Given the description of an element on the screen output the (x, y) to click on. 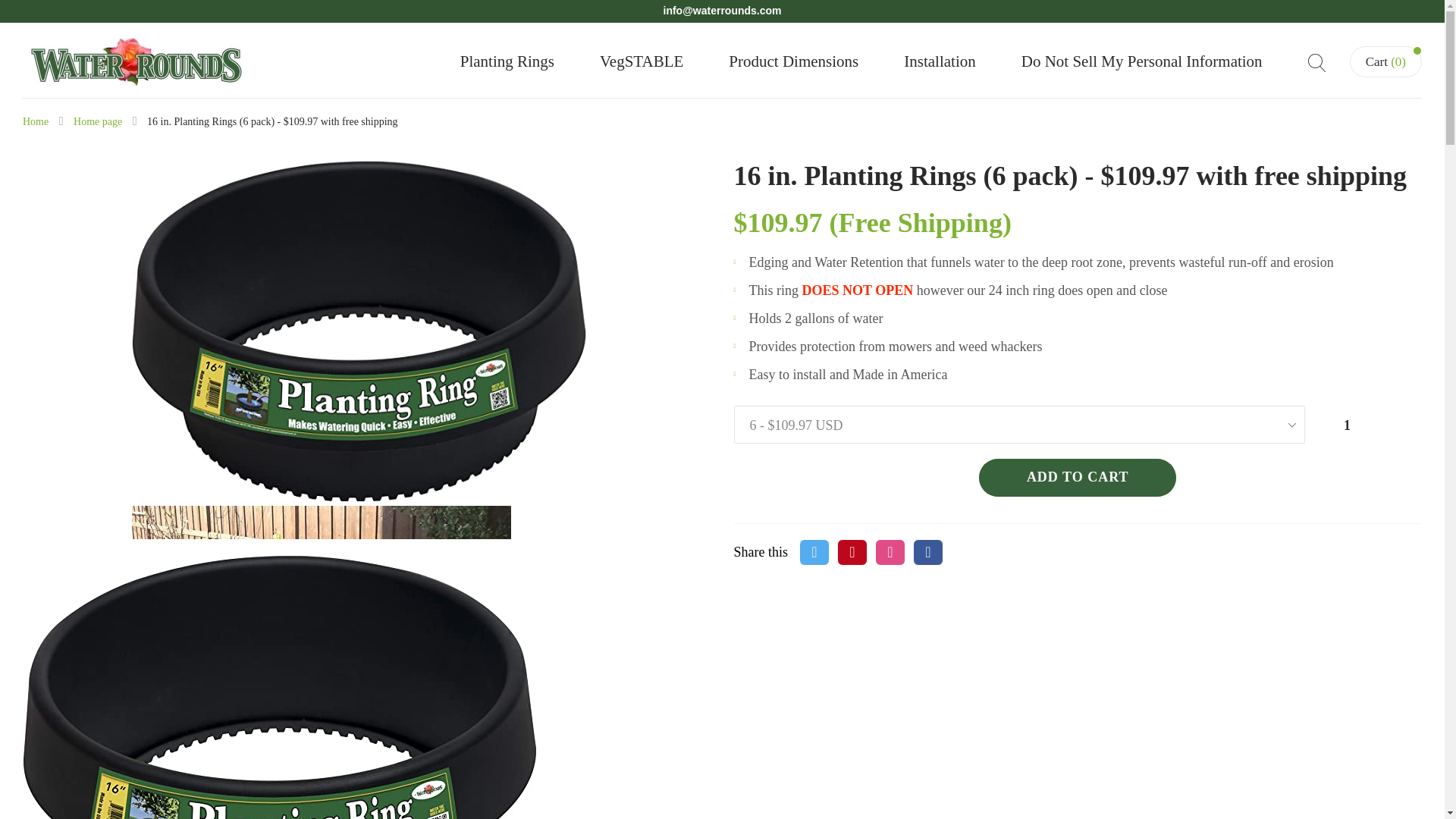
Qty (1351, 424)
VegSTABLE (640, 60)
Home (35, 121)
Facebook (927, 551)
Do Not Sell My Personal Information (1142, 60)
Home page (98, 121)
Pinterest (852, 551)
Planting Rings (507, 60)
Installation (939, 60)
Product Dimensions (794, 60)
